Given the description of an element on the screen output the (x, y) to click on. 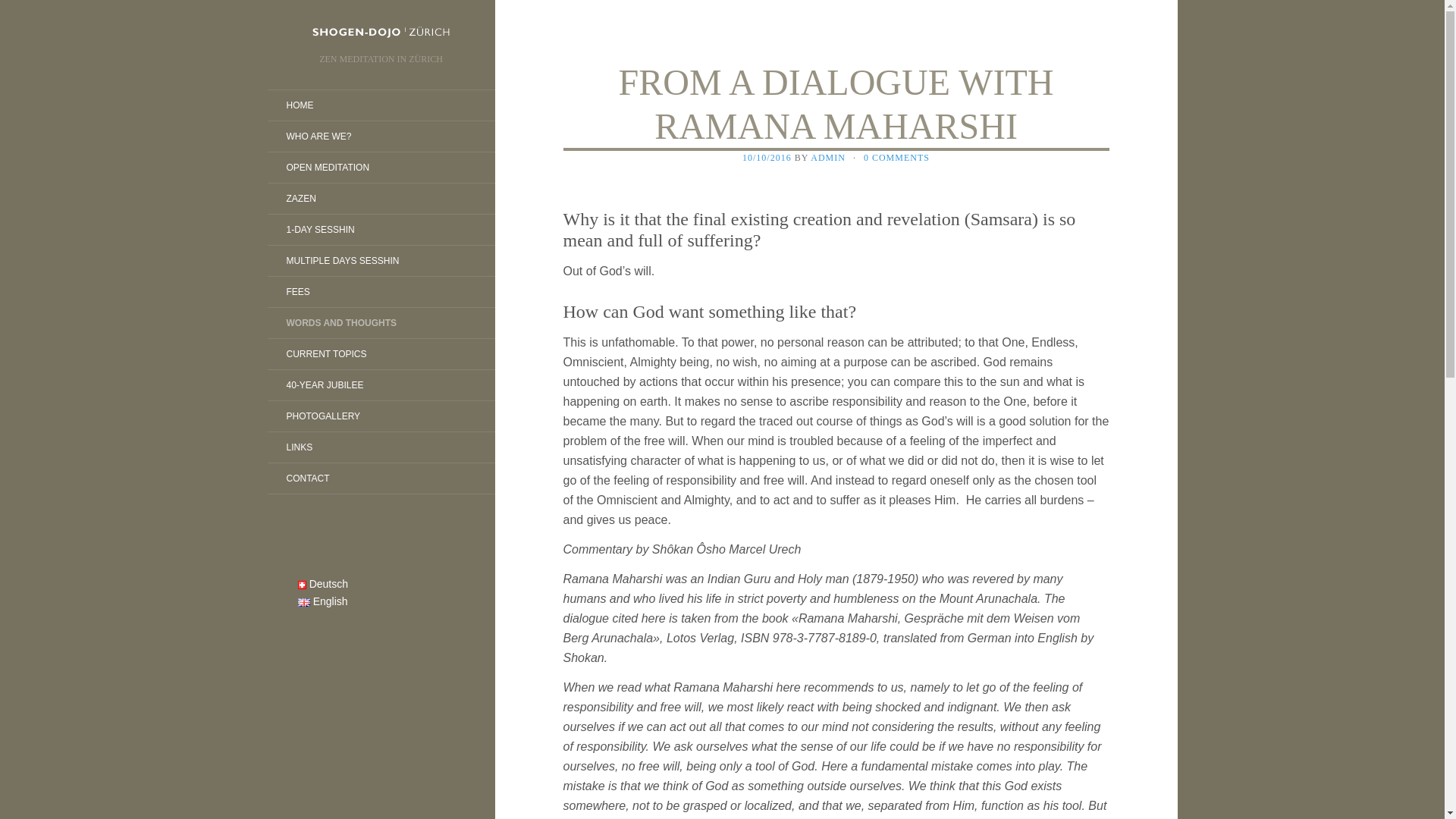
WORDS AND THOUGHTS (340, 322)
0 COMMENTS (896, 157)
ADMIN (827, 157)
PHOTOGALLERY (322, 416)
MULTIPLE DAYS SESSHIN (341, 260)
OPEN MEDITATION (327, 167)
LINKS (298, 447)
English (322, 601)
CONTACT (306, 478)
Shogen-dojo Zurich (380, 31)
